Given the description of an element on the screen output the (x, y) to click on. 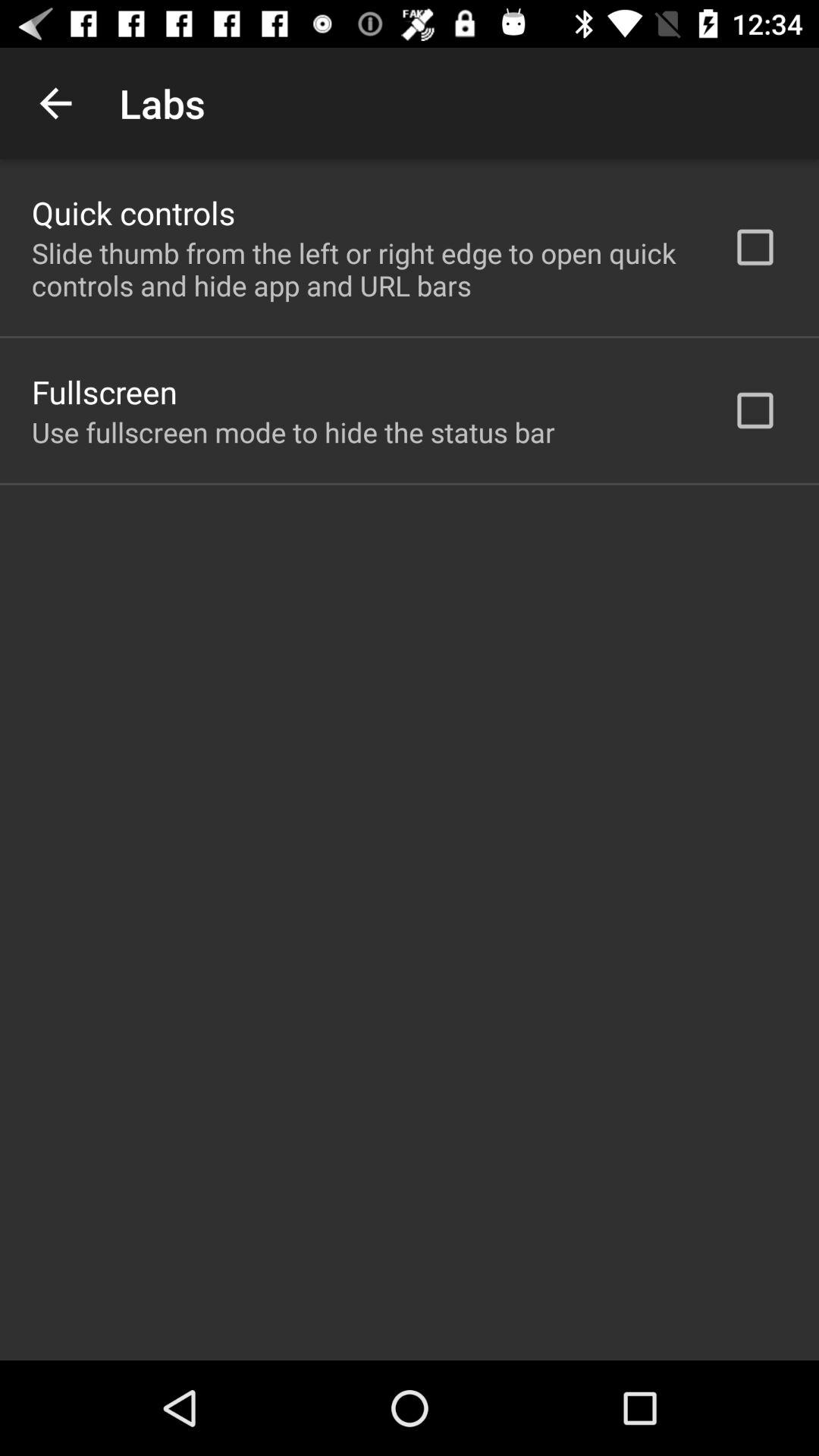
turn on item below fullscreen app (293, 432)
